Given the description of an element on the screen output the (x, y) to click on. 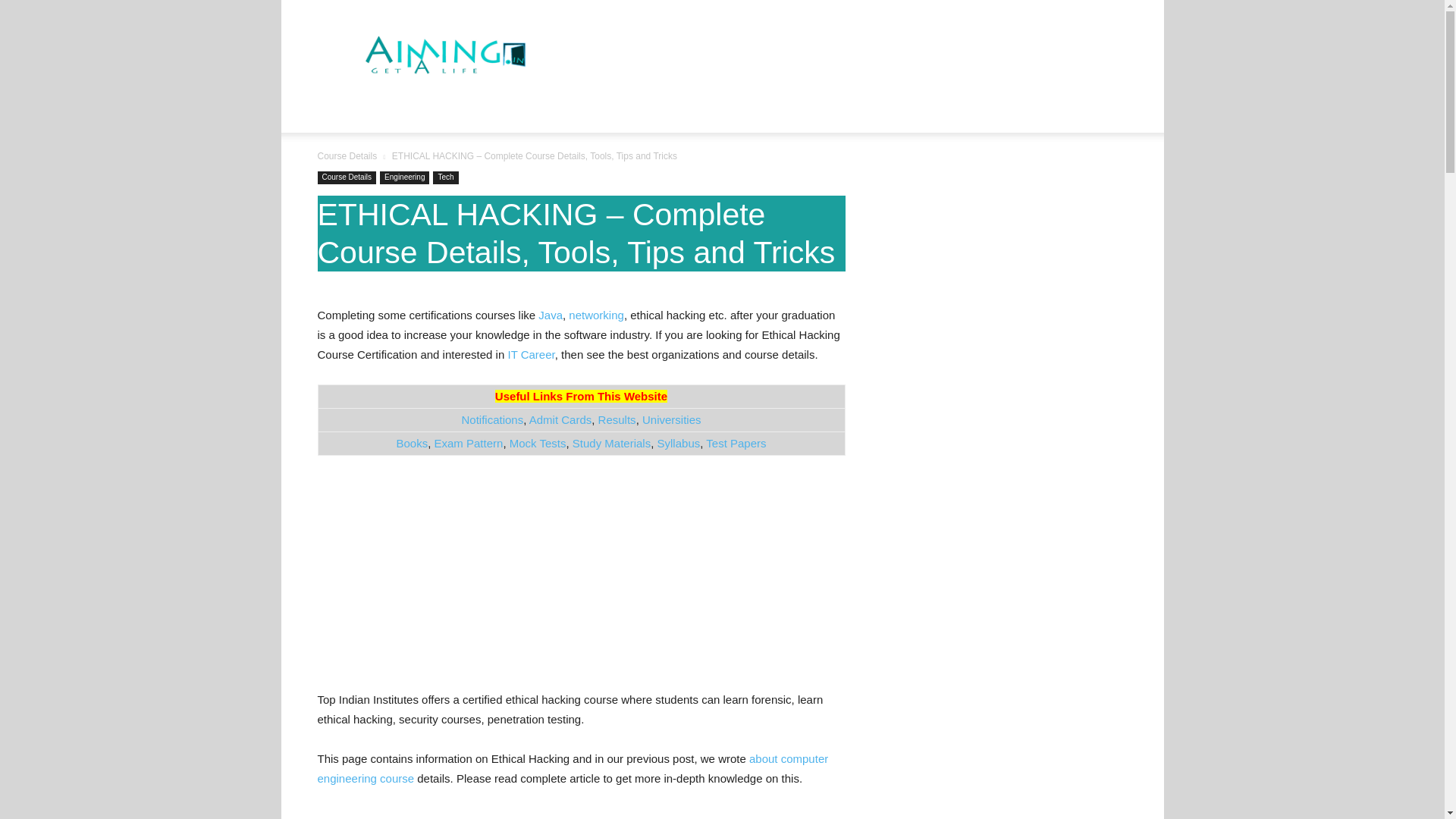
Advertisement (580, 577)
View all posts in Course Details (347, 155)
CAREER (356, 114)
www.aiming.in (445, 55)
Advertisement (580, 813)
